Given the description of an element on the screen output the (x, y) to click on. 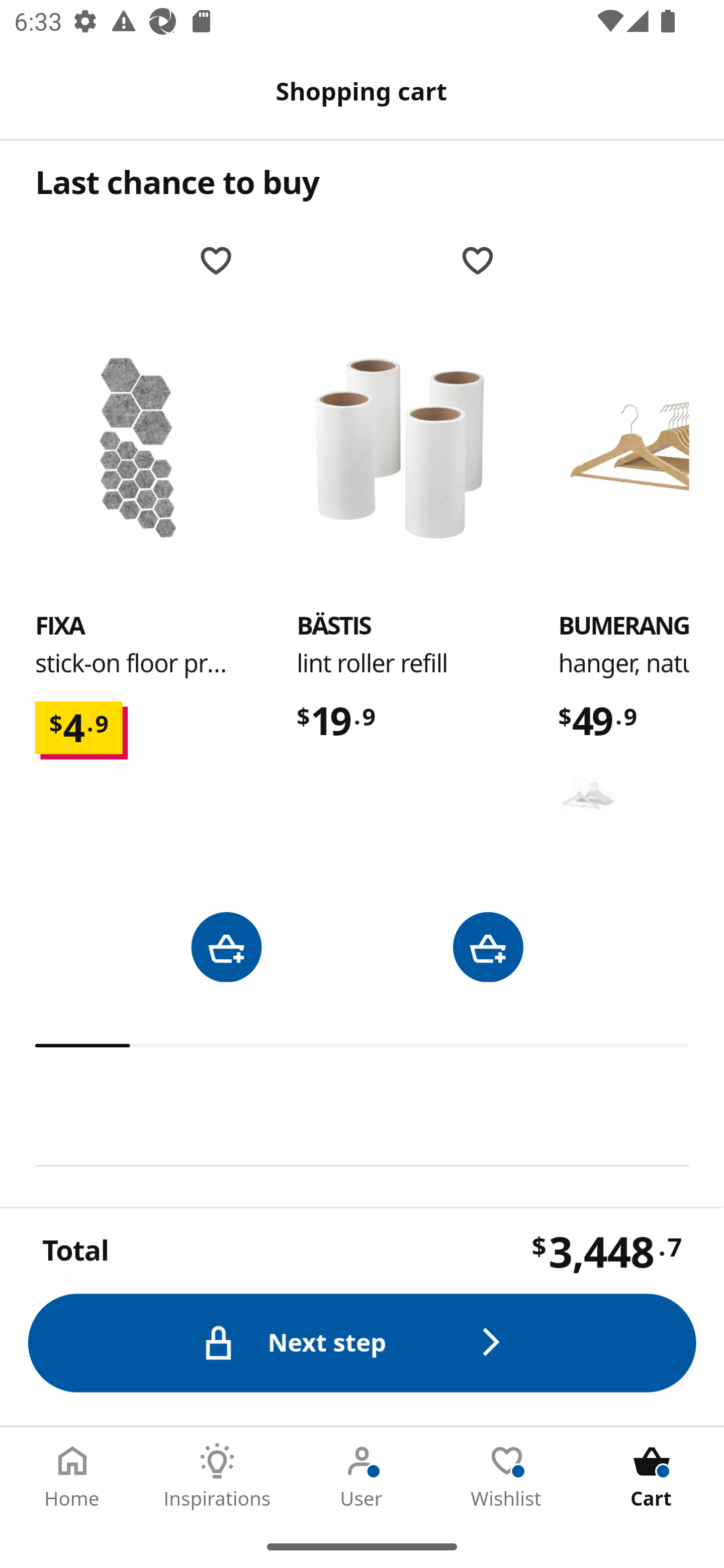
FIXA (138, 447)
BÄSTIS (399, 447)
BUMERANG (640, 447)
FIXA (60, 627)
BÄSTIS (332, 627)
BUMERANG (624, 627)
BUMERANG (588, 795)
 (225, 947)
 (487, 947)
0.0 (363, 1045)
Home
Tab 1 of 5 (72, 1476)
Inspirations
Tab 2 of 5 (216, 1476)
User
Tab 3 of 5 (361, 1476)
Wishlist
Tab 4 of 5 (506, 1476)
Cart
Tab 5 of 5 (651, 1476)
